Given the description of an element on the screen output the (x, y) to click on. 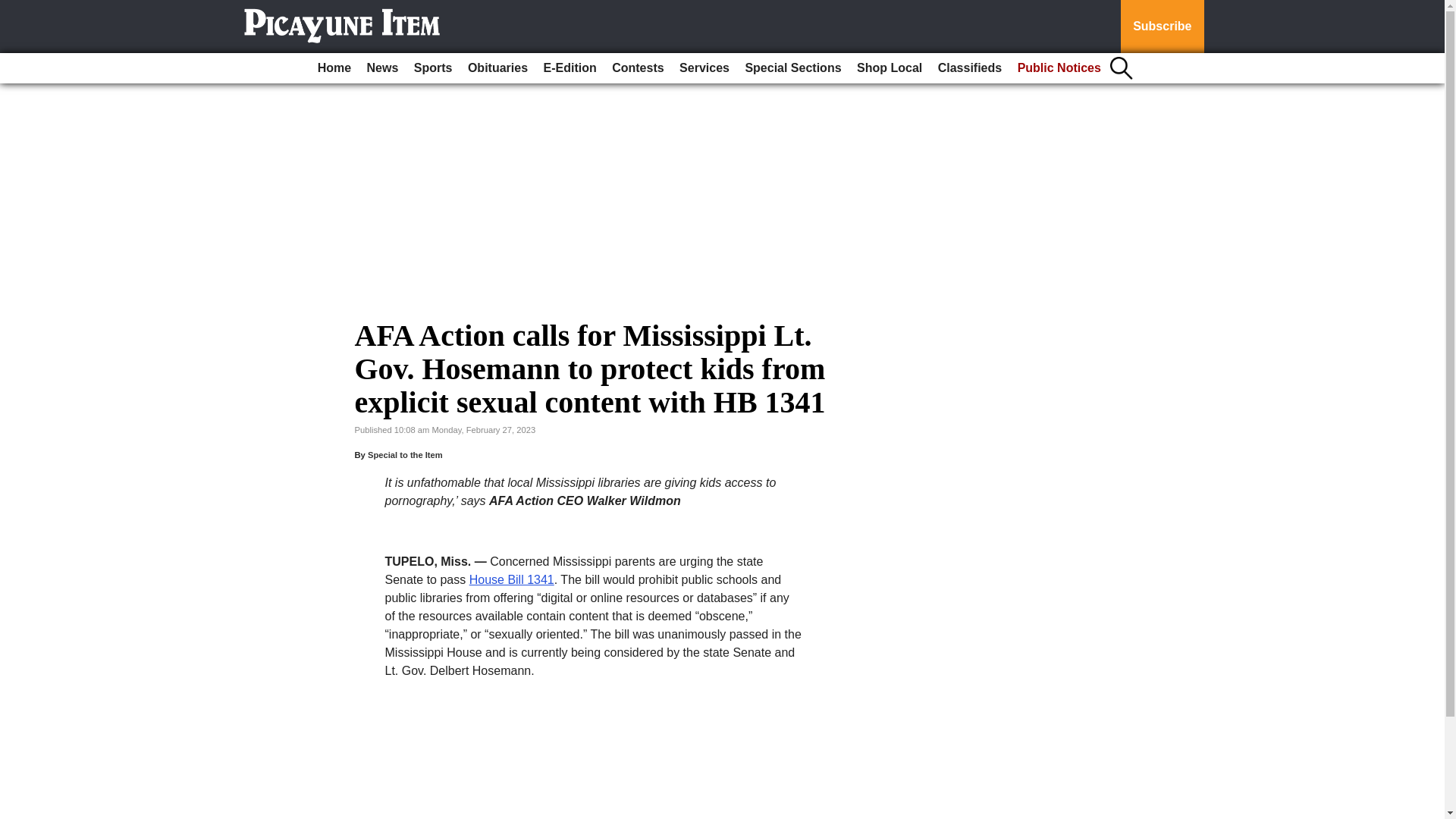
Classifieds (969, 68)
Shop Local (889, 68)
Go (13, 9)
Special Sections (792, 68)
Contests (637, 68)
Subscribe (1162, 26)
House Bill 1341 (511, 579)
Home (333, 68)
News (382, 68)
Services (703, 68)
Special to the Item (405, 454)
E-Edition (569, 68)
Public Notices (1058, 68)
Sports (432, 68)
Obituaries (497, 68)
